Given the description of an element on the screen output the (x, y) to click on. 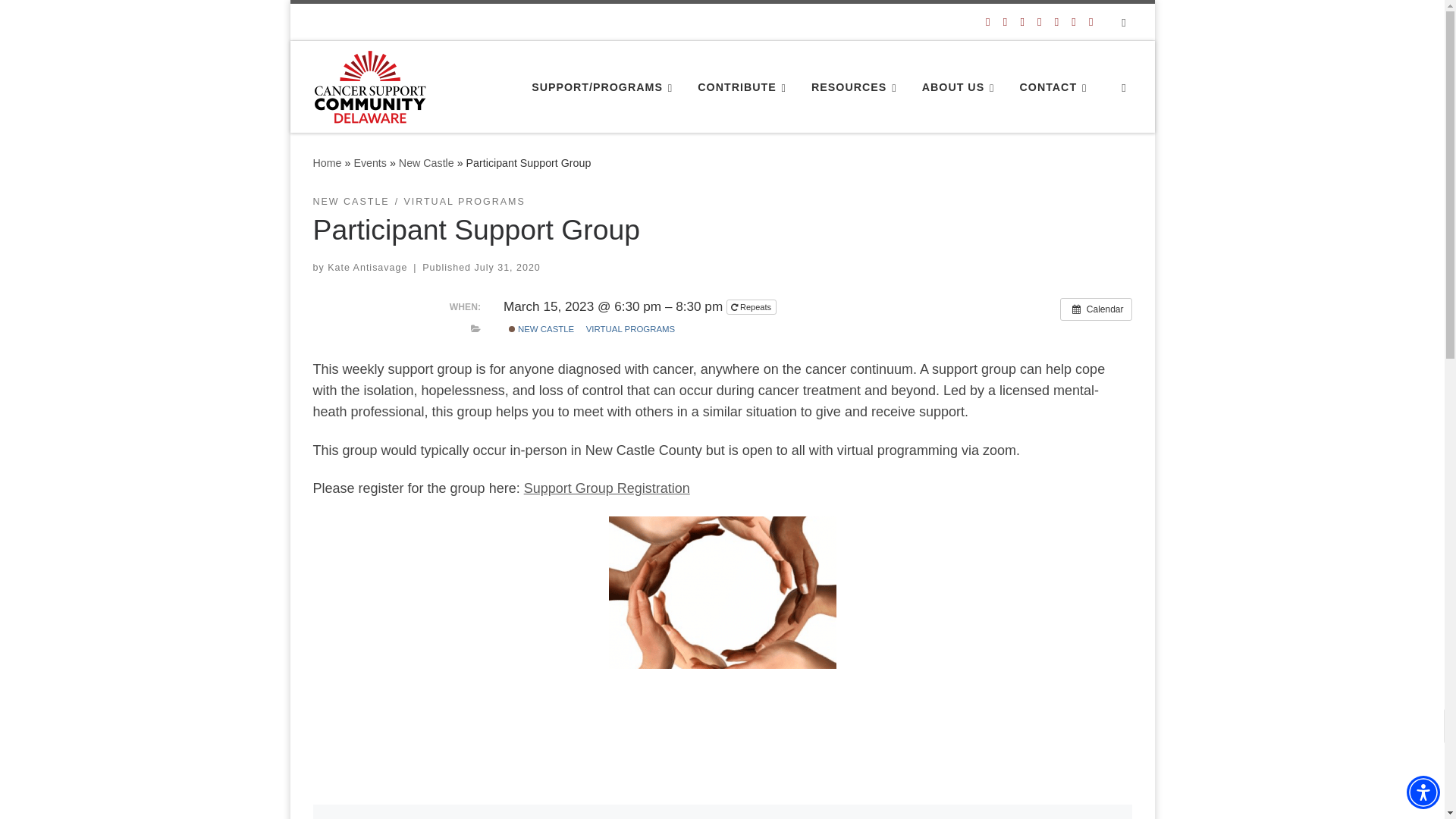
ABOUT US (960, 87)
Skip to content (60, 20)
Events (370, 162)
Follow us on Instagram (1021, 21)
Accessibility Menu (1422, 792)
Follow us on Linked-in (1038, 21)
Follow us on Youtube (1056, 21)
Cancer Support Community Delaware (326, 162)
Subscribe to my rss feed (1091, 21)
Follow us on Facebook (987, 21)
RESOURCES (856, 87)
CONTACT (1055, 87)
New Castle (426, 162)
CONTRIBUTE (744, 87)
Follow us on Twitter (1005, 21)
